Given the description of an element on the screen output the (x, y) to click on. 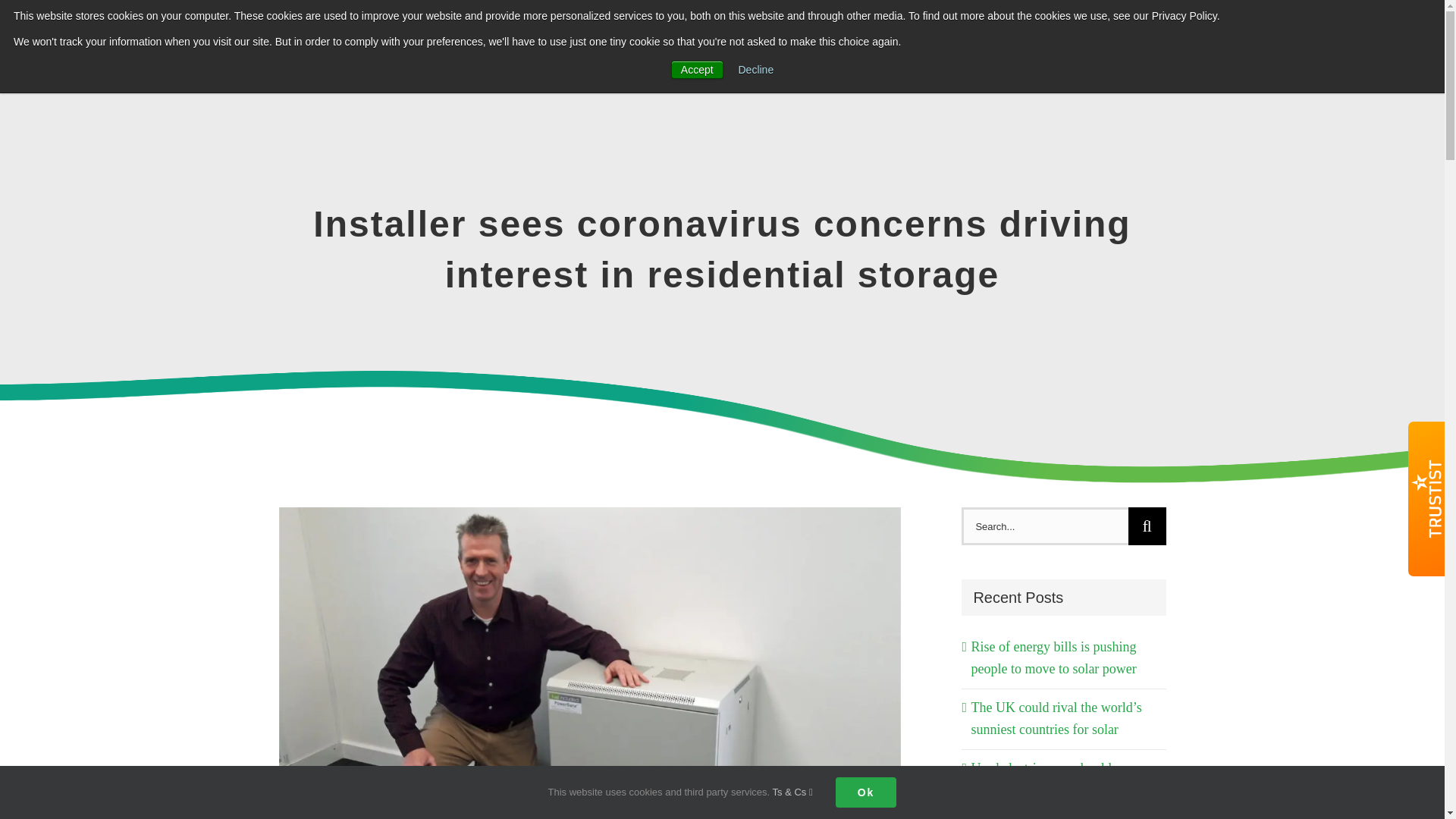
Decline (756, 69)
LEARNING HUB (1021, 38)
COMMERCIAL (883, 38)
Accept (697, 69)
ABOUT (1239, 38)
SUPPORT (1142, 38)
DOMESTIC (760, 38)
